Given the description of an element on the screen output the (x, y) to click on. 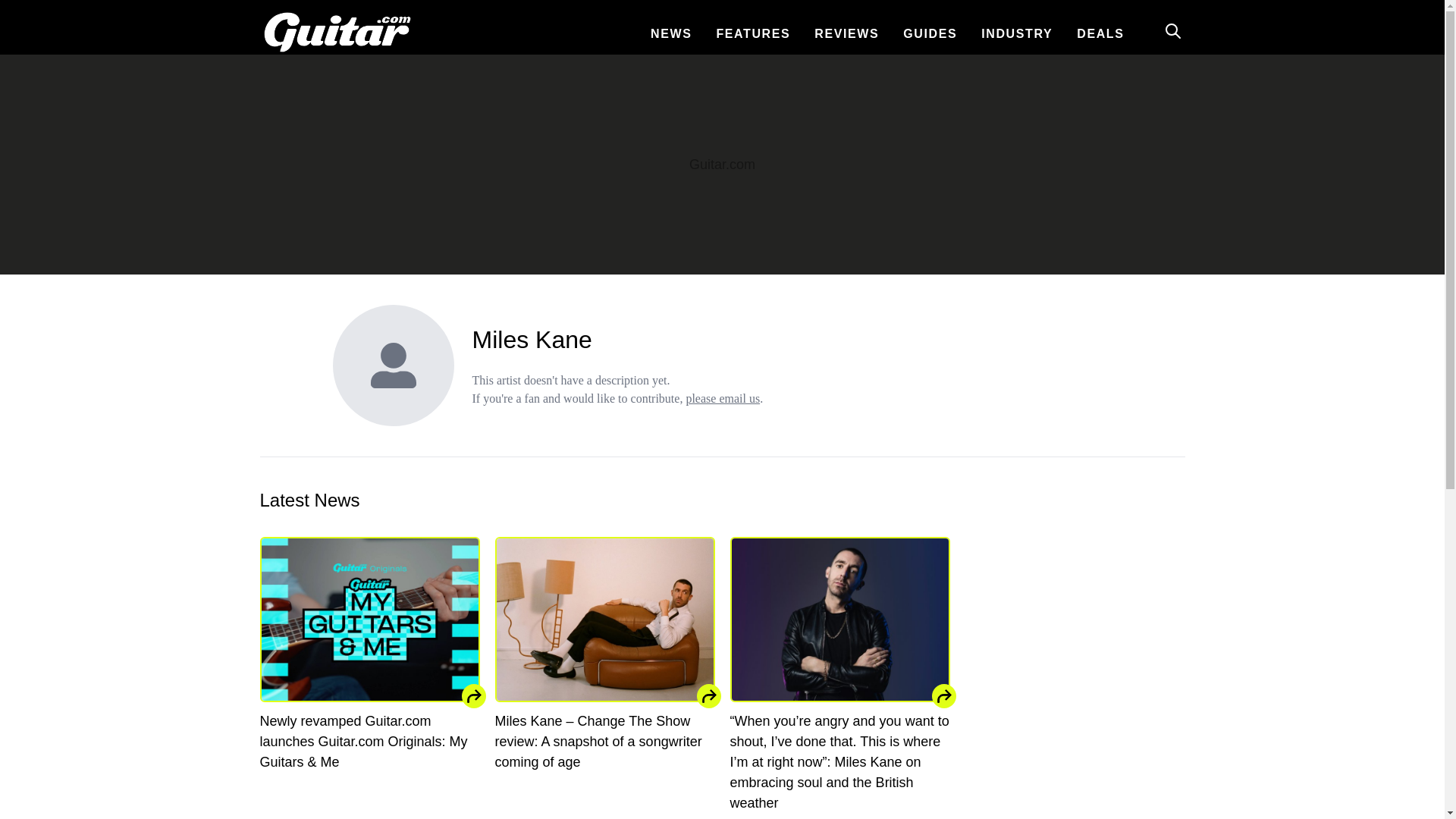
Published September 14, 2023 1:19PM (369, 789)
REVIEWS (846, 33)
INDUSTRY (1016, 33)
FEATURES (753, 33)
please email us (722, 398)
NEWS (671, 33)
DEALS (1099, 33)
GUIDES (929, 33)
Published January 24, 2022 9:30AM (604, 789)
